Given the description of an element on the screen output the (x, y) to click on. 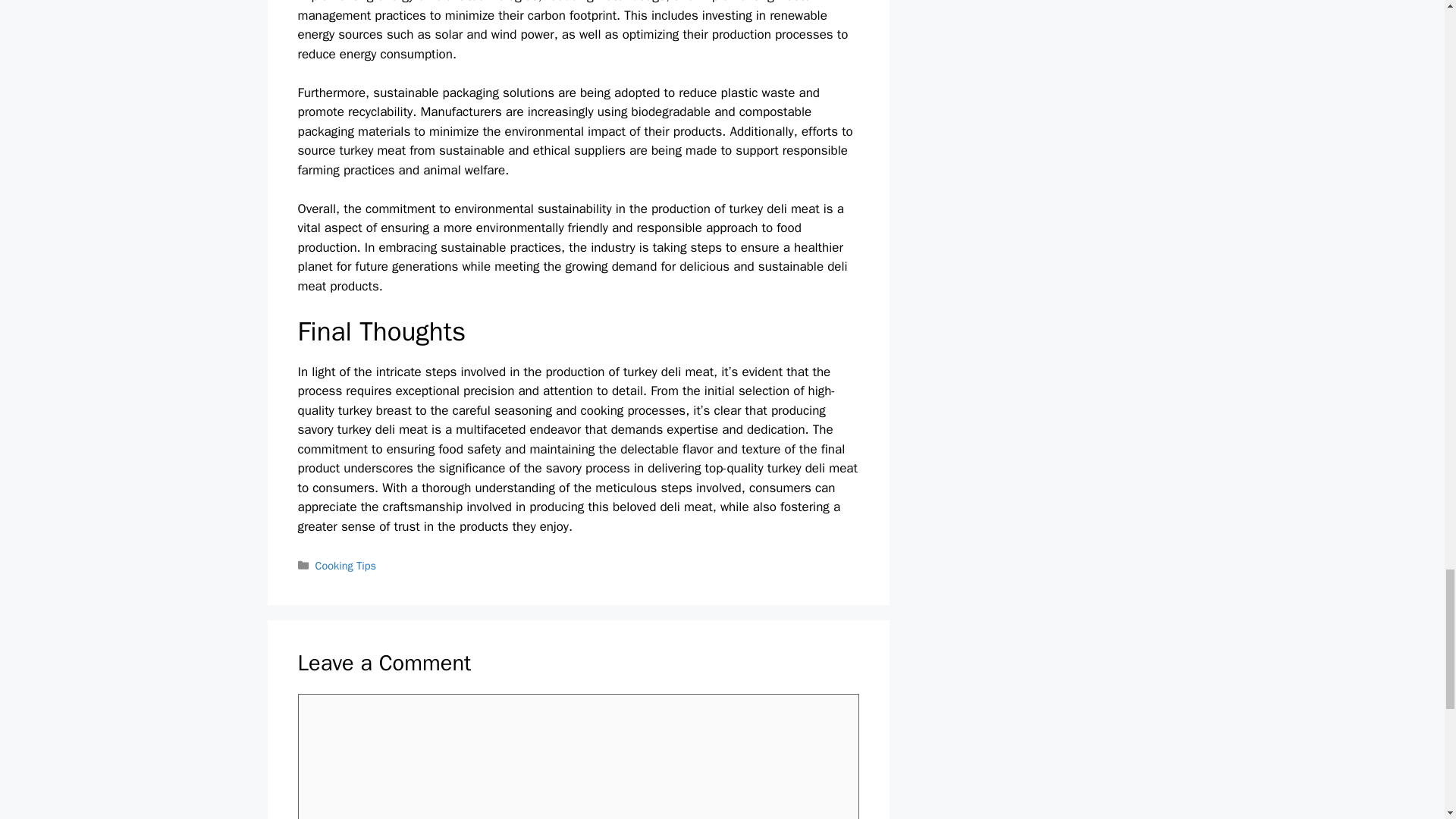
Cooking Tips (345, 565)
